Given the description of an element on the screen output the (x, y) to click on. 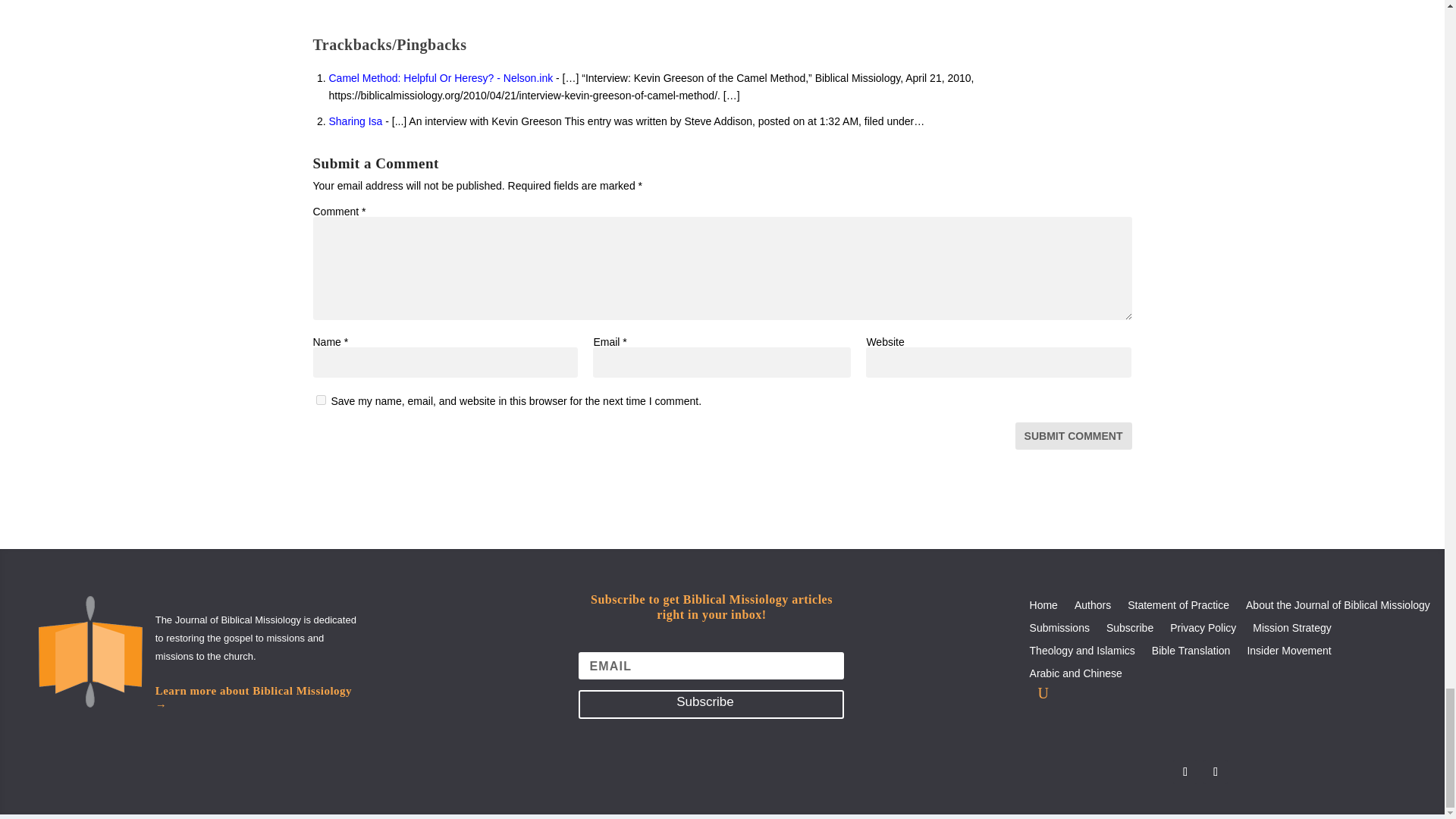
Follow on Youtube (1215, 771)
Follow on Facebook (1184, 771)
yes (319, 399)
